Given the description of an element on the screen output the (x, y) to click on. 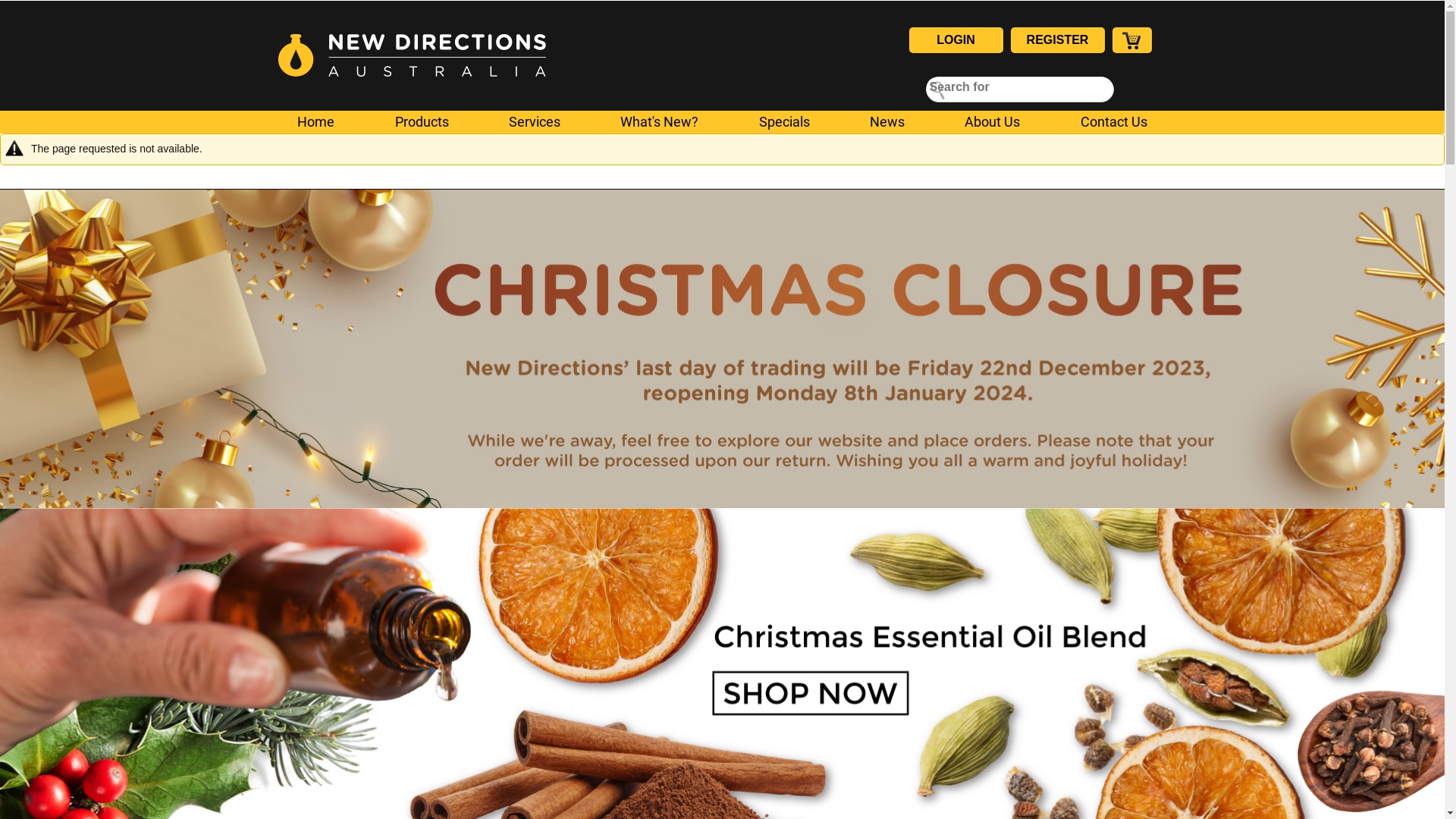
Services Element type: text (534, 119)
News Element type: text (887, 119)
LOGIN Element type: text (955, 40)
Specials Element type: text (784, 119)
Start search Element type: hover (937, 89)
About Us Element type: text (991, 119)
Contact Us Element type: text (1113, 119)
Products Element type: text (421, 119)
What'S New? Element type: text (659, 119)
REGISTER Element type: text (1057, 40)
Home Element type: text (315, 119)
